Given the description of an element on the screen output the (x, y) to click on. 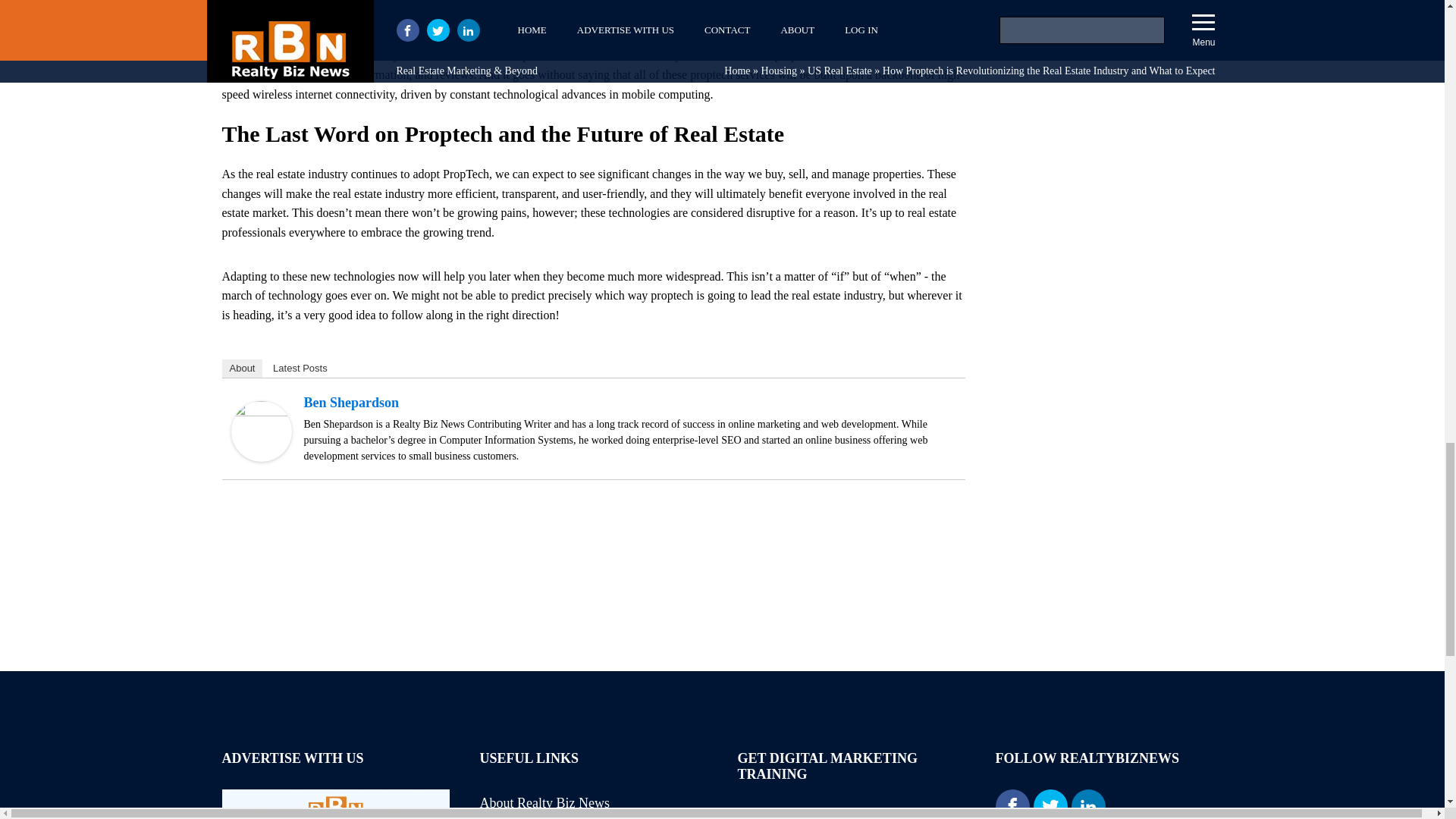
Ben Shepardson (260, 457)
